Given the description of an element on the screen output the (x, y) to click on. 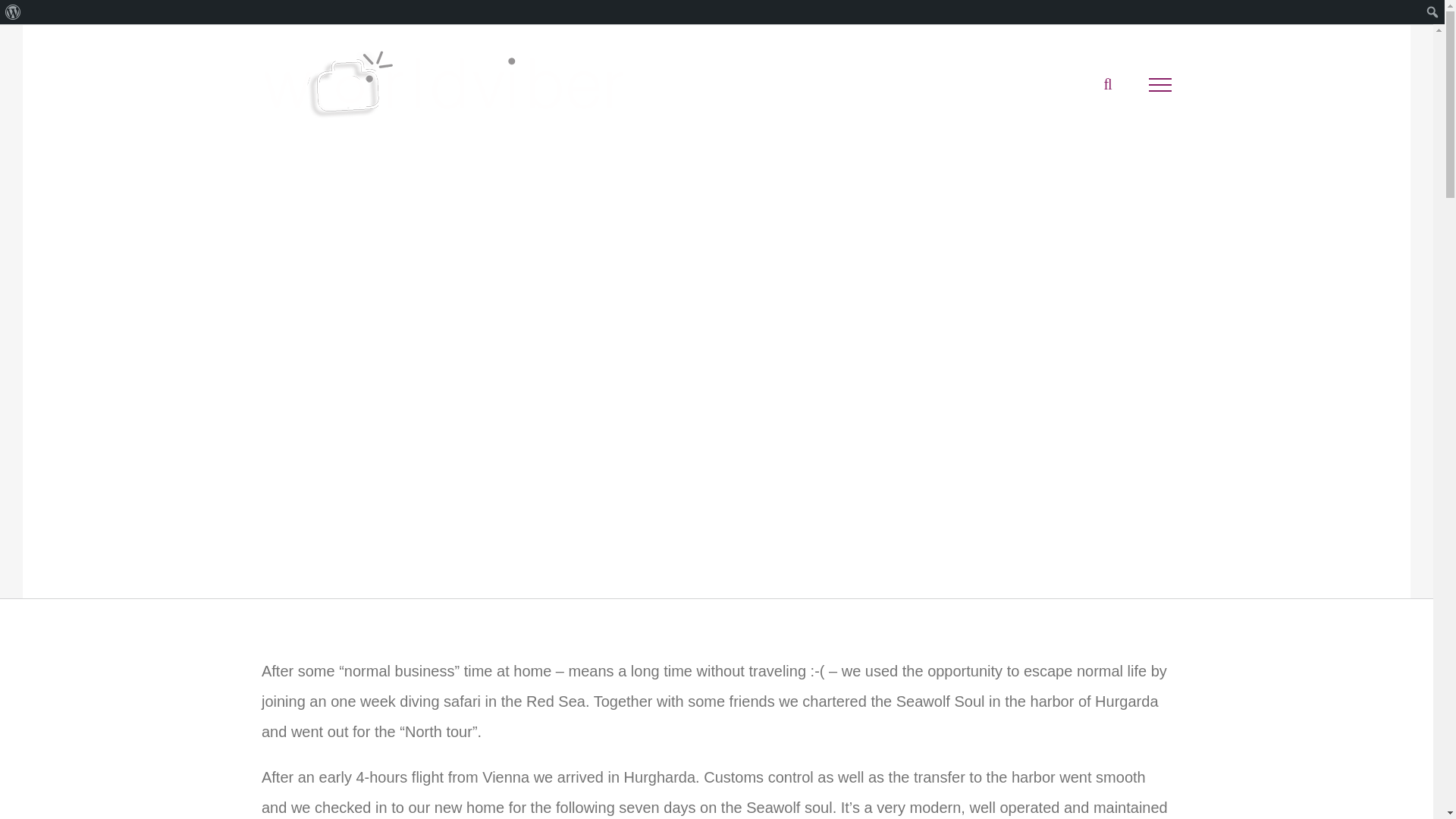
Search (16, 13)
